Given the description of an element on the screen output the (x, y) to click on. 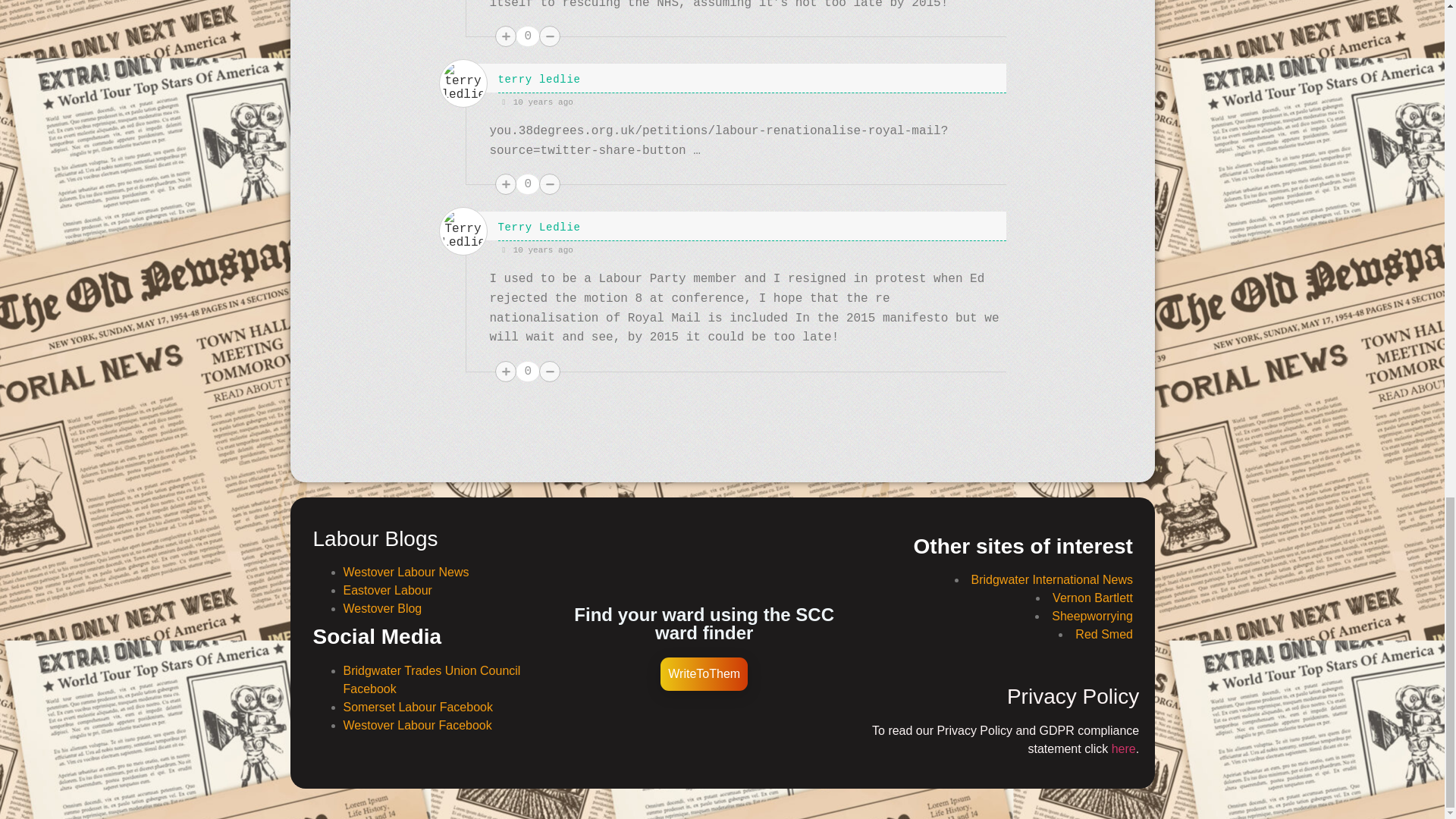
0 (527, 35)
0 (527, 371)
Westover Labour News (405, 571)
Eastover Labour (386, 590)
Bridgwater International News (1051, 579)
Westover Blog (382, 608)
0 (527, 184)
Westover Labour Facebook (417, 725)
WriteToThem (704, 674)
Somerset Labour Facebook (417, 707)
Bridgwater Trades Union Council Facebook (430, 679)
Vernon Bartlett (1092, 597)
